Given the description of an element on the screen output the (x, y) to click on. 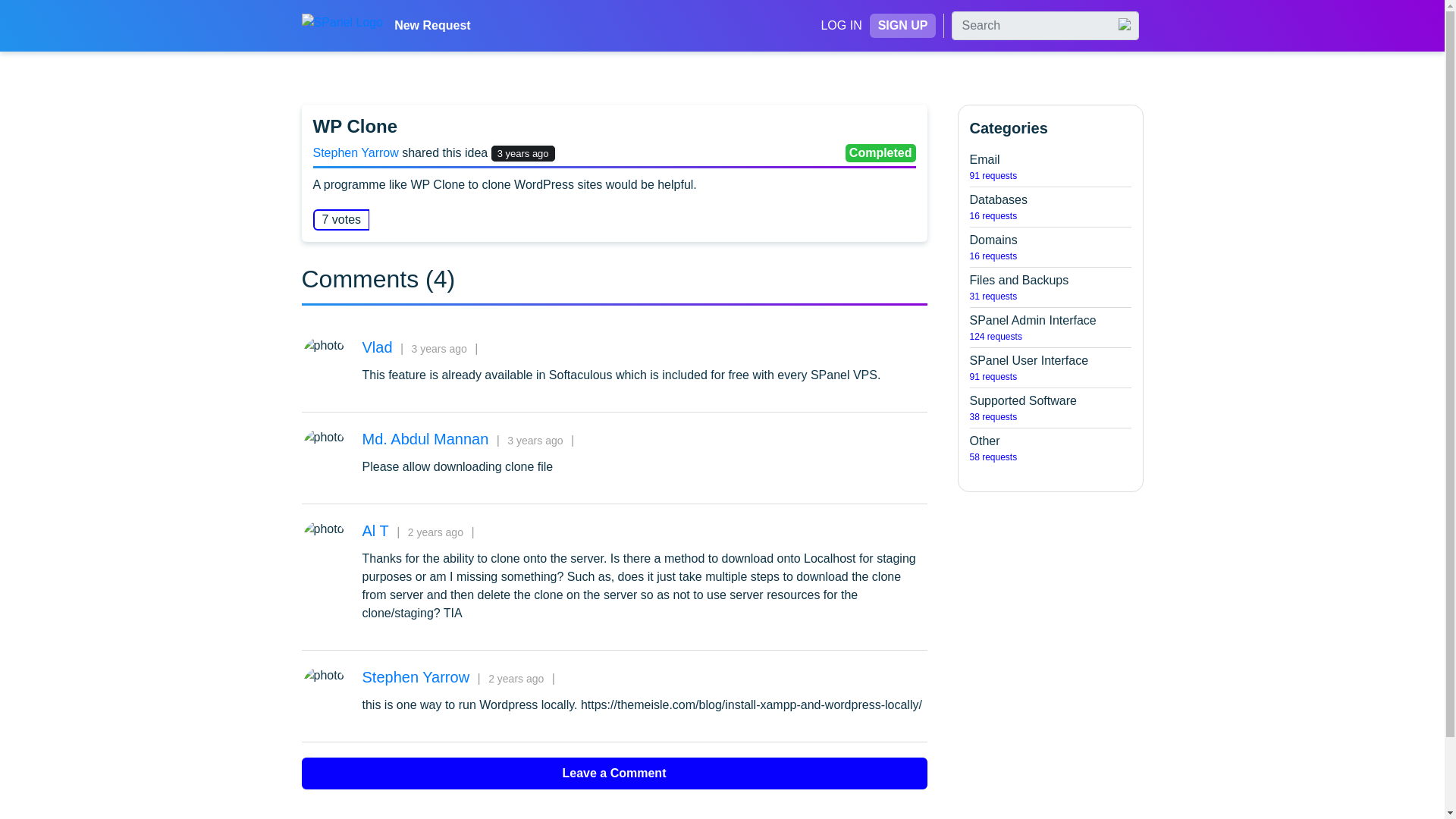
SIGN UP (902, 25)
Md. Abdul Mannan (425, 440)
Stephen Yarrow (1050, 287)
LOG IN (1050, 367)
Vlad (416, 677)
Al T (841, 24)
